Given the description of an element on the screen output the (x, y) to click on. 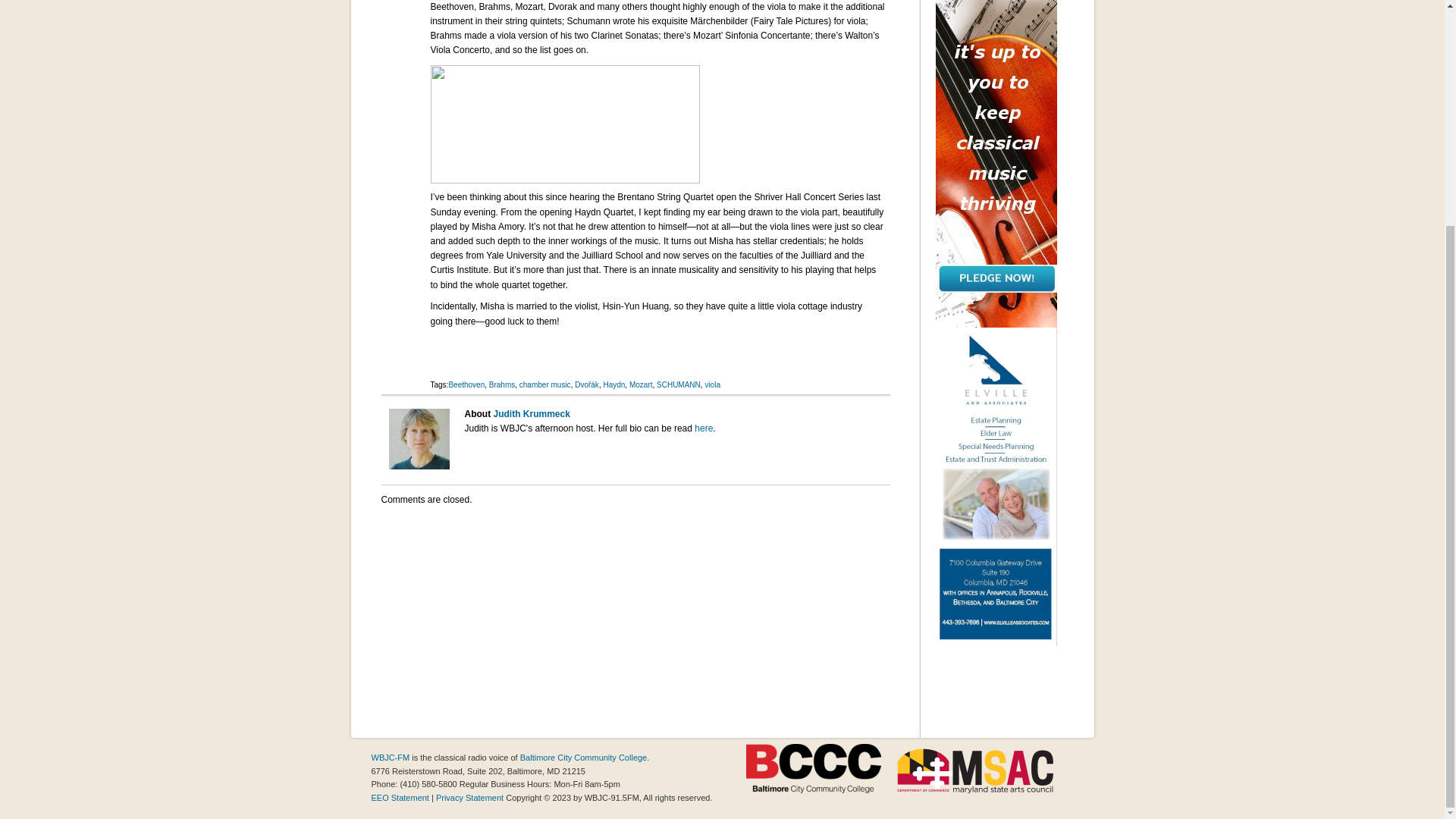
Posts by Judith Krummeck (531, 413)
